Given the description of an element on the screen output the (x, y) to click on. 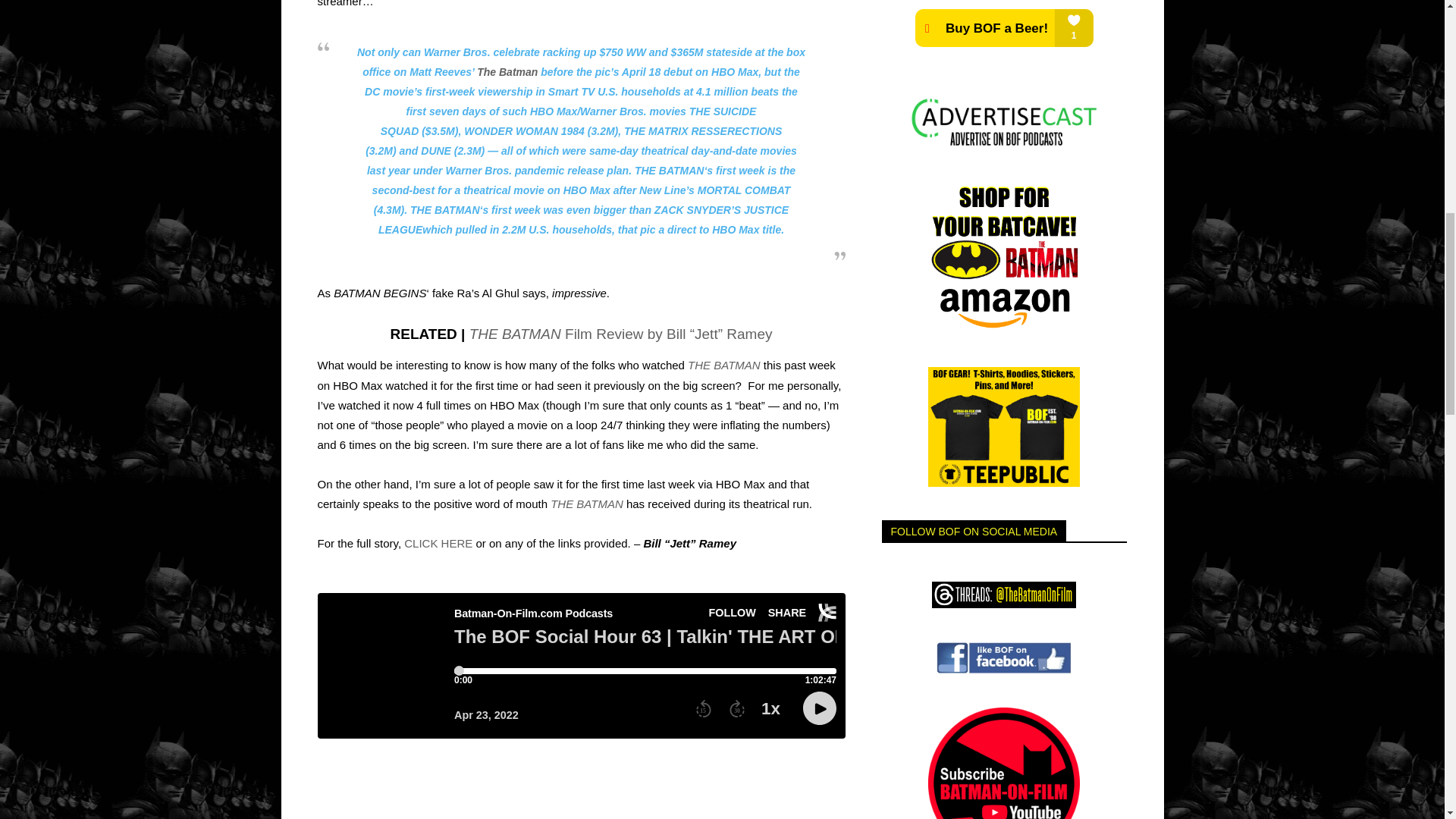
Embed Player (580, 665)
